Given the description of an element on the screen output the (x, y) to click on. 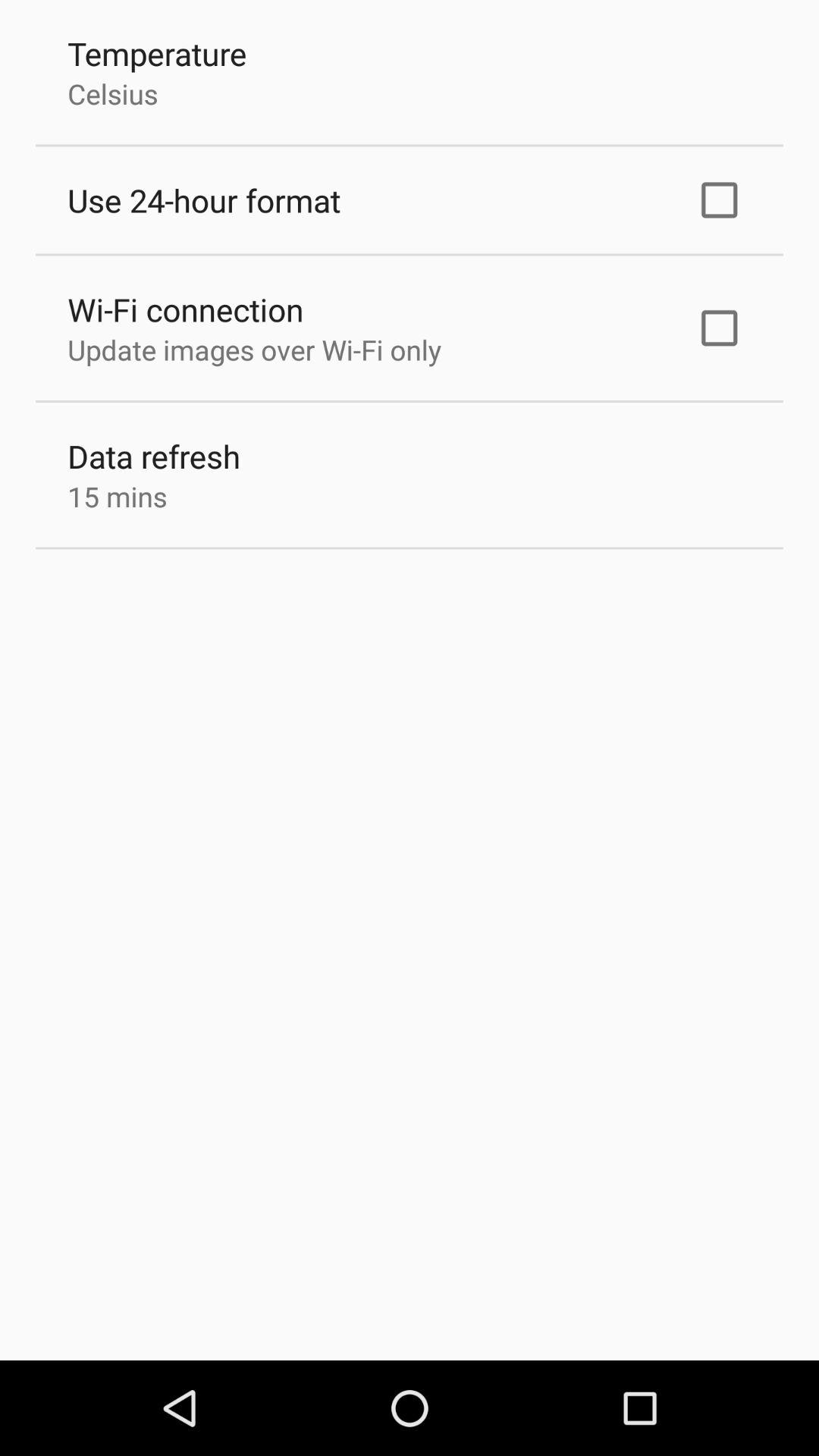
open the use 24 hour icon (203, 199)
